Given the description of an element on the screen output the (x, y) to click on. 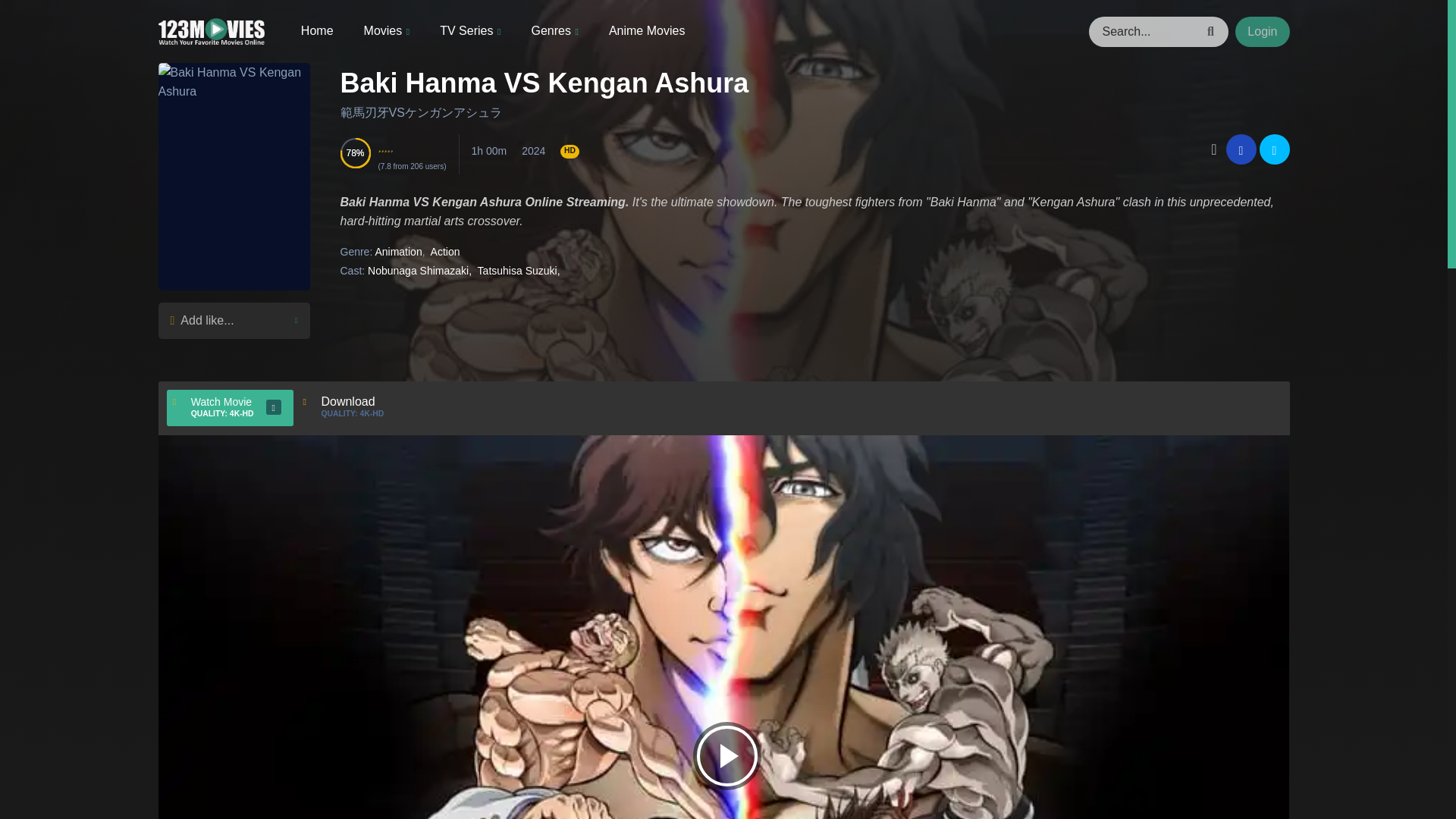
2024 (532, 150)
TV Series (469, 31)
Facebook (1240, 149)
Movies (387, 31)
Baki Hanma VS Kengan Ashura (543, 82)
Action (445, 251)
Anime Movies (646, 30)
Twitter (1273, 149)
Login (1261, 31)
Genres (554, 31)
Add like... (232, 320)
Home (317, 30)
Animation (398, 251)
